Given the description of an element on the screen output the (x, y) to click on. 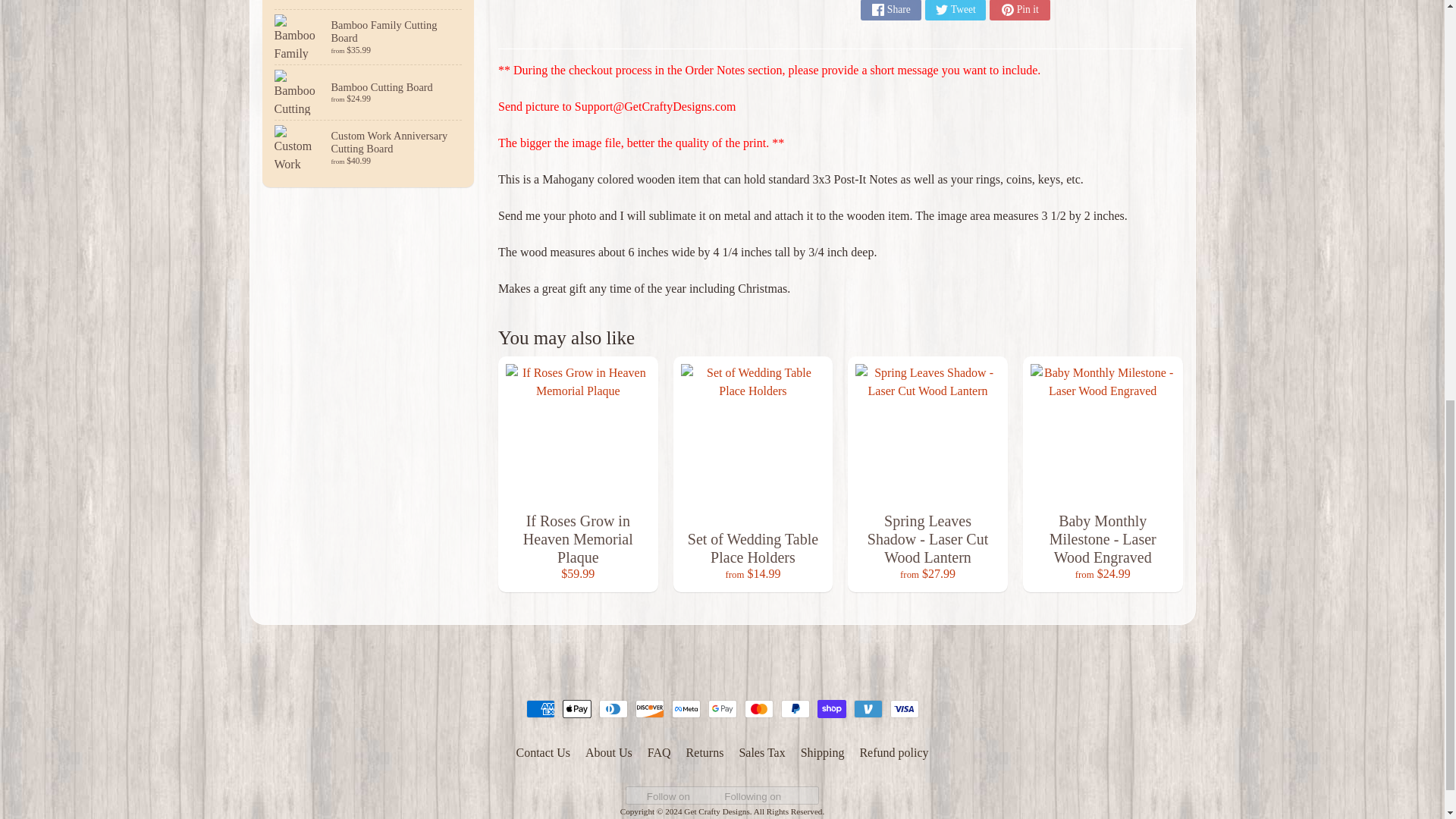
Pin on Pinterest (1019, 10)
Venmo (867, 709)
Apple Pay (576, 709)
Mastercard (758, 709)
Visa (903, 709)
Meta Pay (685, 709)
Tweet on Twitter (954, 10)
Bamboo Family Cutting Board (369, 36)
PayPal (794, 709)
Diners Club (612, 709)
